Given the description of an element on the screen output the (x, y) to click on. 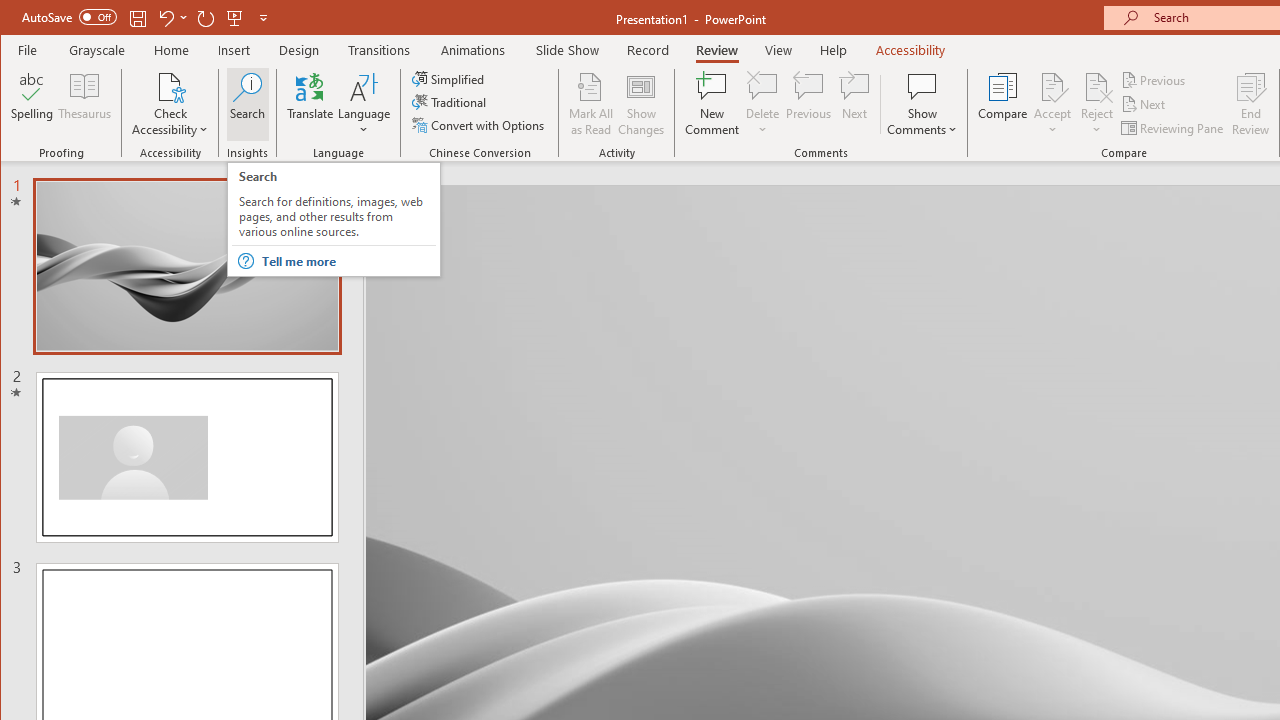
Accept Change (1052, 86)
Delete (762, 104)
Search (247, 104)
Reject Change (1096, 86)
New Comment (712, 104)
Thesaurus... (84, 104)
Language (363, 104)
